Given the description of an element on the screen output the (x, y) to click on. 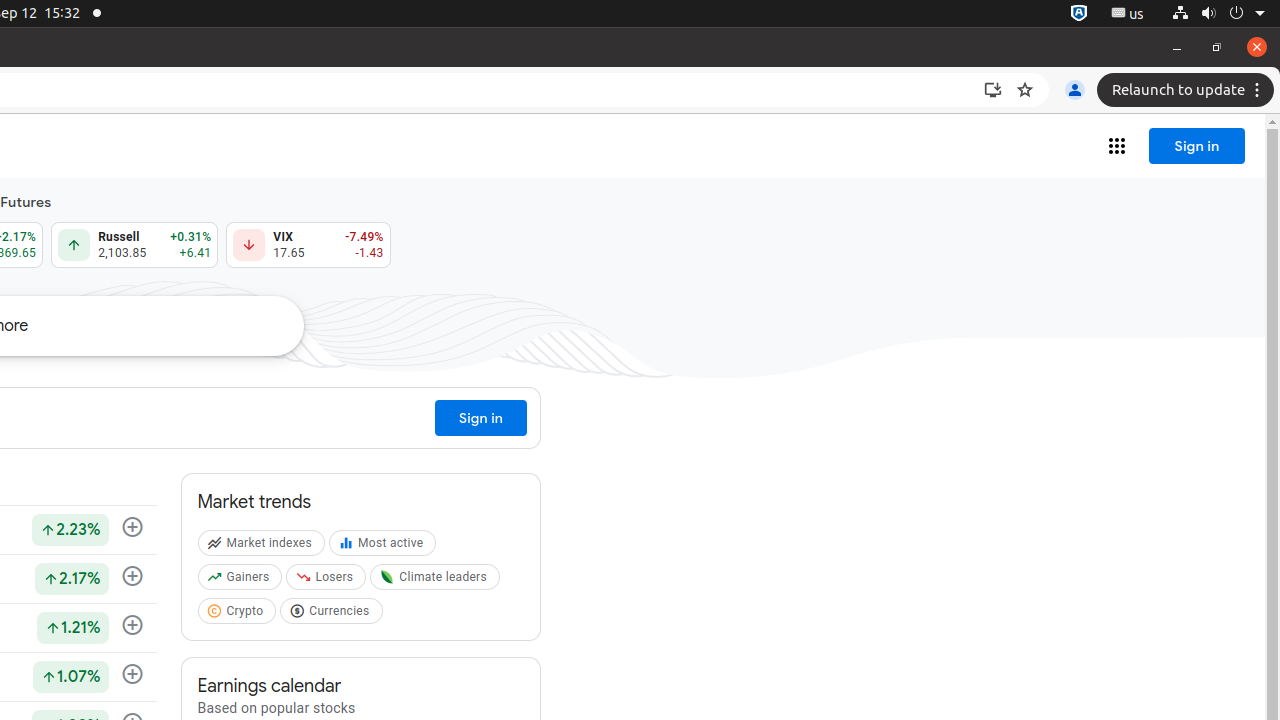
Market indexes Element type: link (263, 547)
Russell 2,103.85 Up by 0.31% +6.41 Element type: link (135, 245)
Crypto Element type: link (239, 615)
GLeaf logo Climate leaders Element type: link (437, 581)
Currencies Element type: link (333, 615)
